Given the description of an element on the screen output the (x, y) to click on. 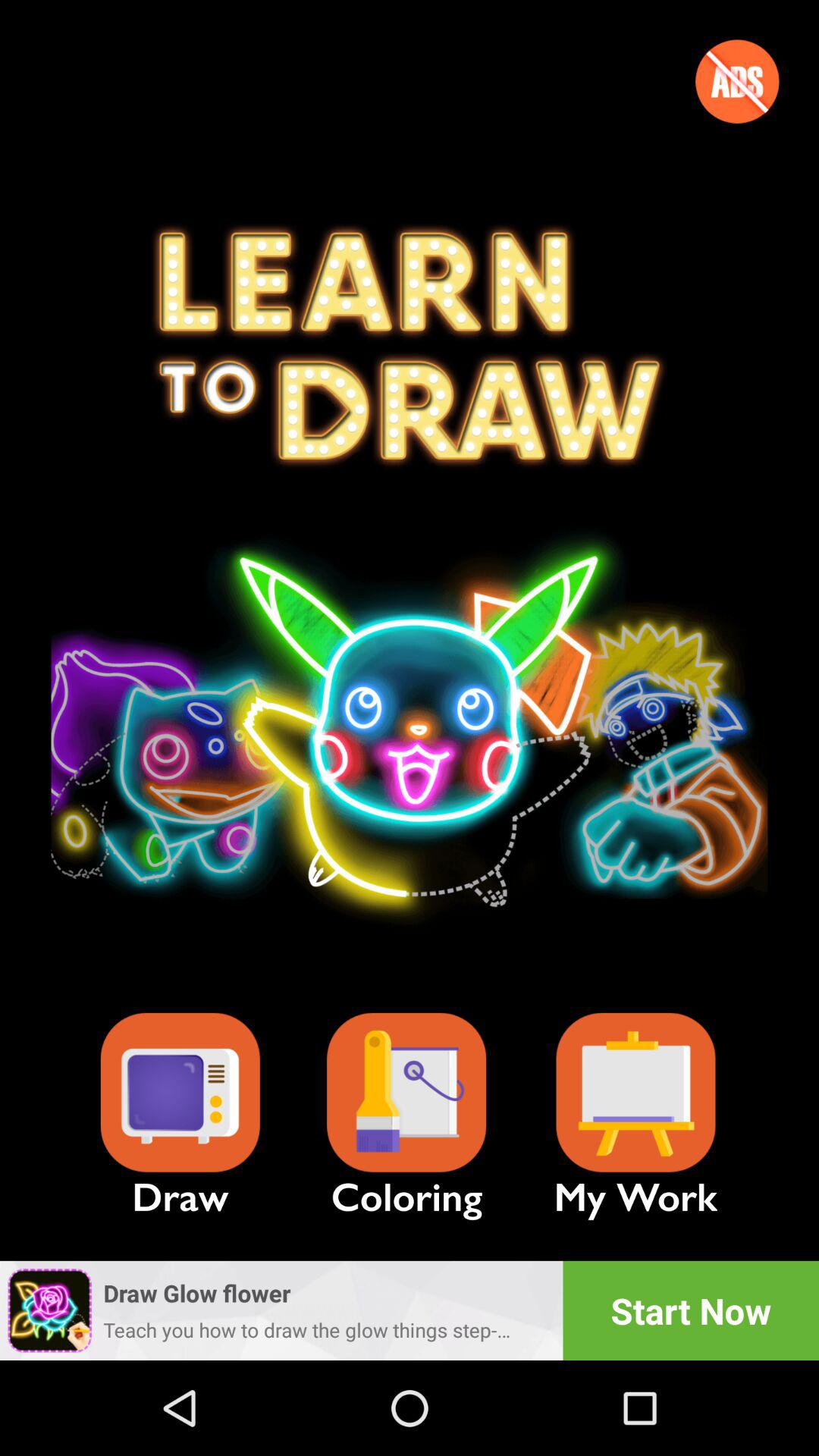
pick (406, 1092)
